Given the description of an element on the screen output the (x, y) to click on. 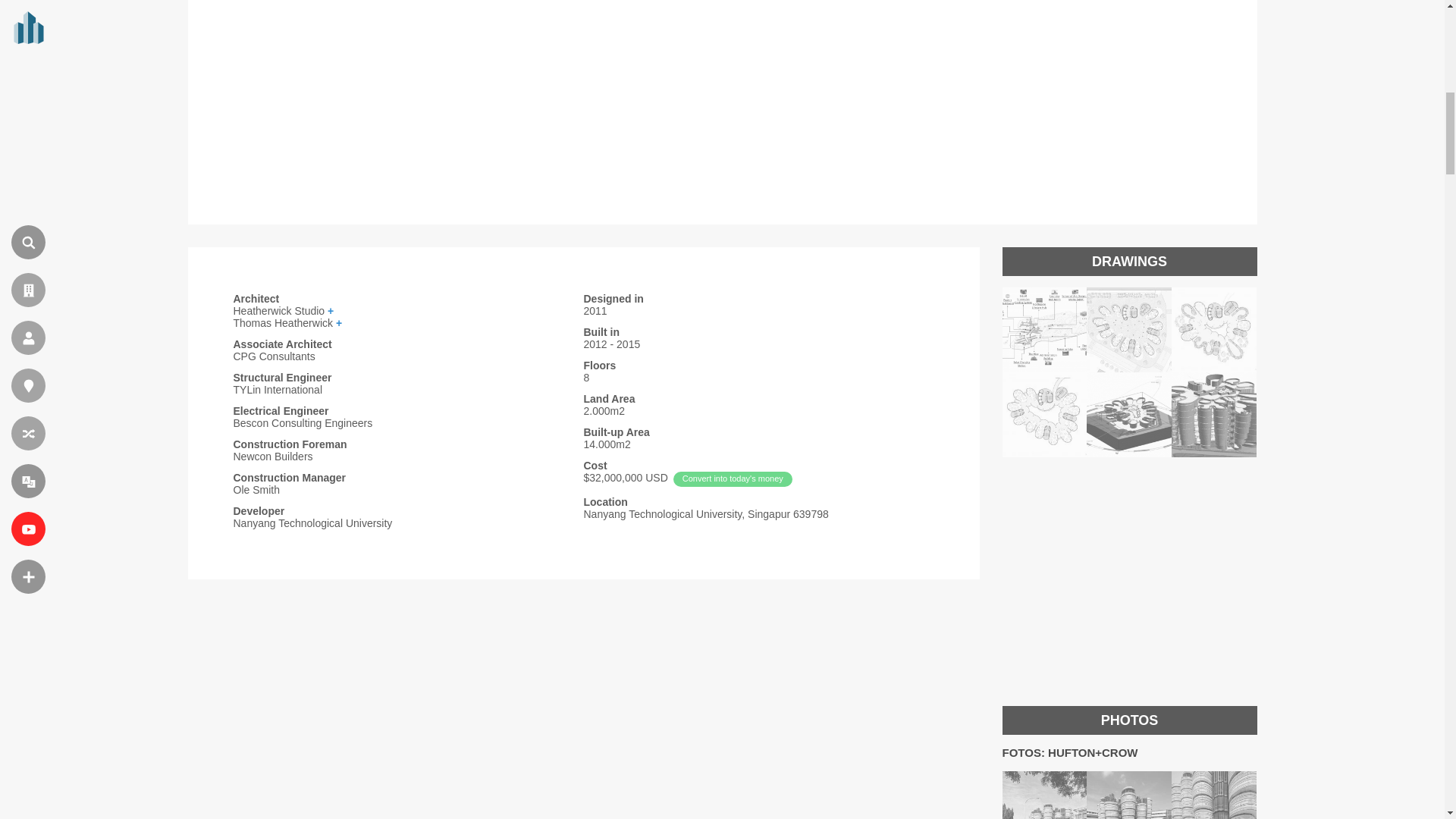
Convert into today's money (732, 478)
Heatherwick Studio (407, 310)
Thomas Heatherwick (407, 322)
